Given the description of an element on the screen output the (x, y) to click on. 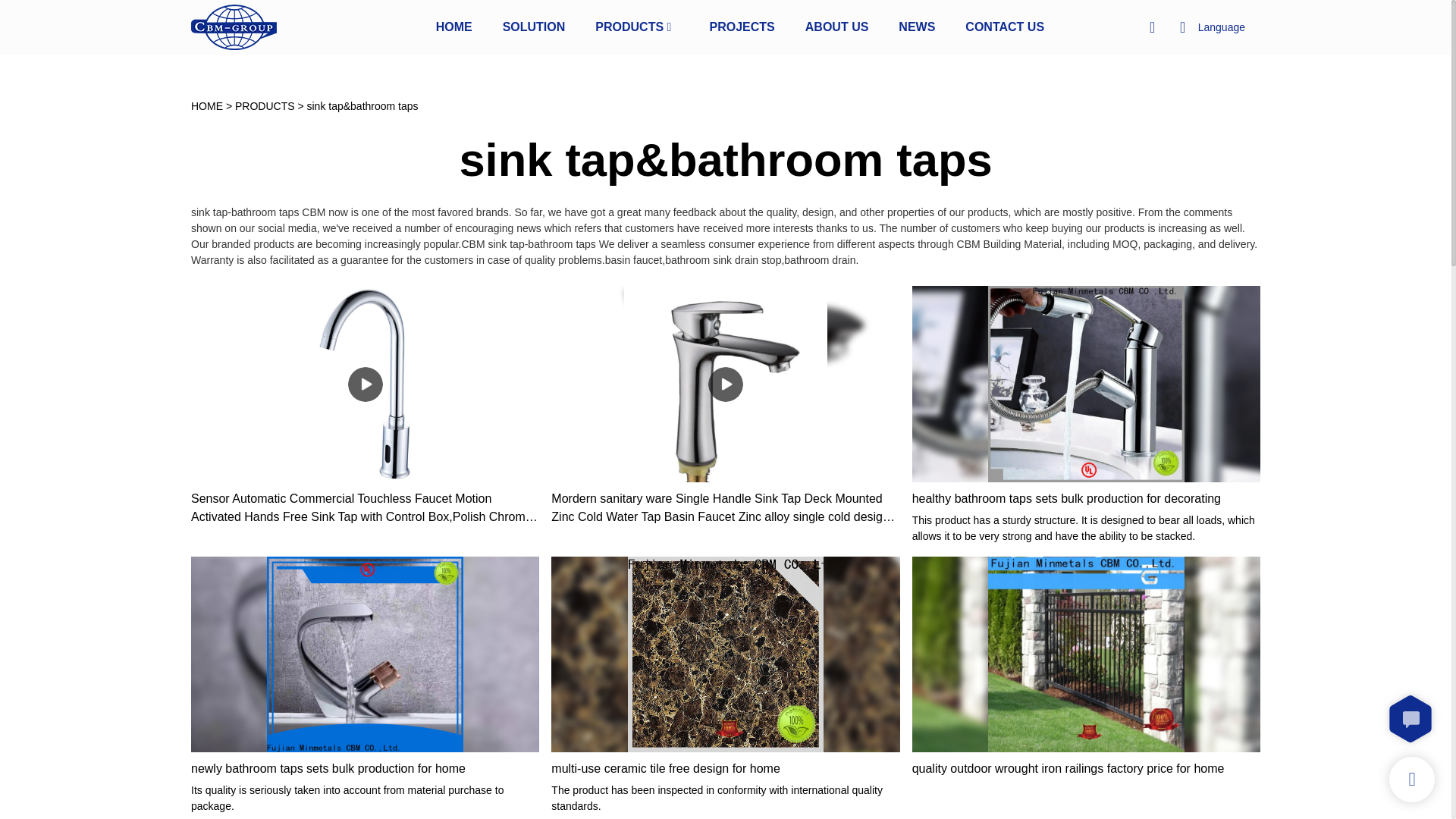
PRODUCTS (629, 26)
quality outdoor wrought iron railings factory price for home (1086, 769)
multi-use ceramic tile free design for home (725, 769)
healthy bathroom taps sets bulk production for decorating (1086, 498)
SOLUTION (534, 26)
newly bathroom taps sets bulk production for home (364, 769)
HOME (453, 26)
